Given the description of an element on the screen output the (x, y) to click on. 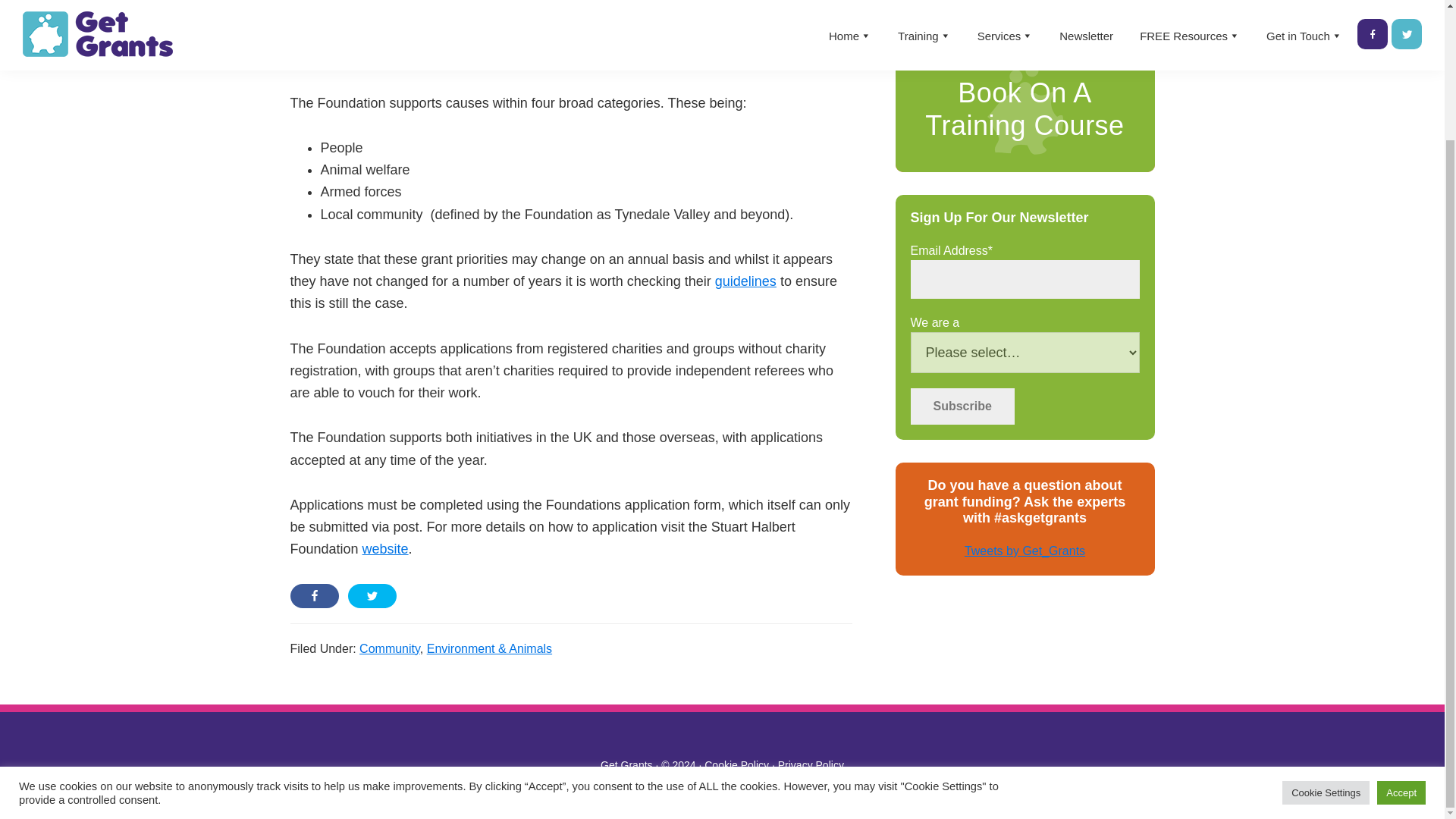
Subscribe (961, 406)
Share on Twitter (371, 595)
Go (1110, 3)
Go (1110, 3)
Share on Facebook (313, 595)
